Given the description of an element on the screen output the (x, y) to click on. 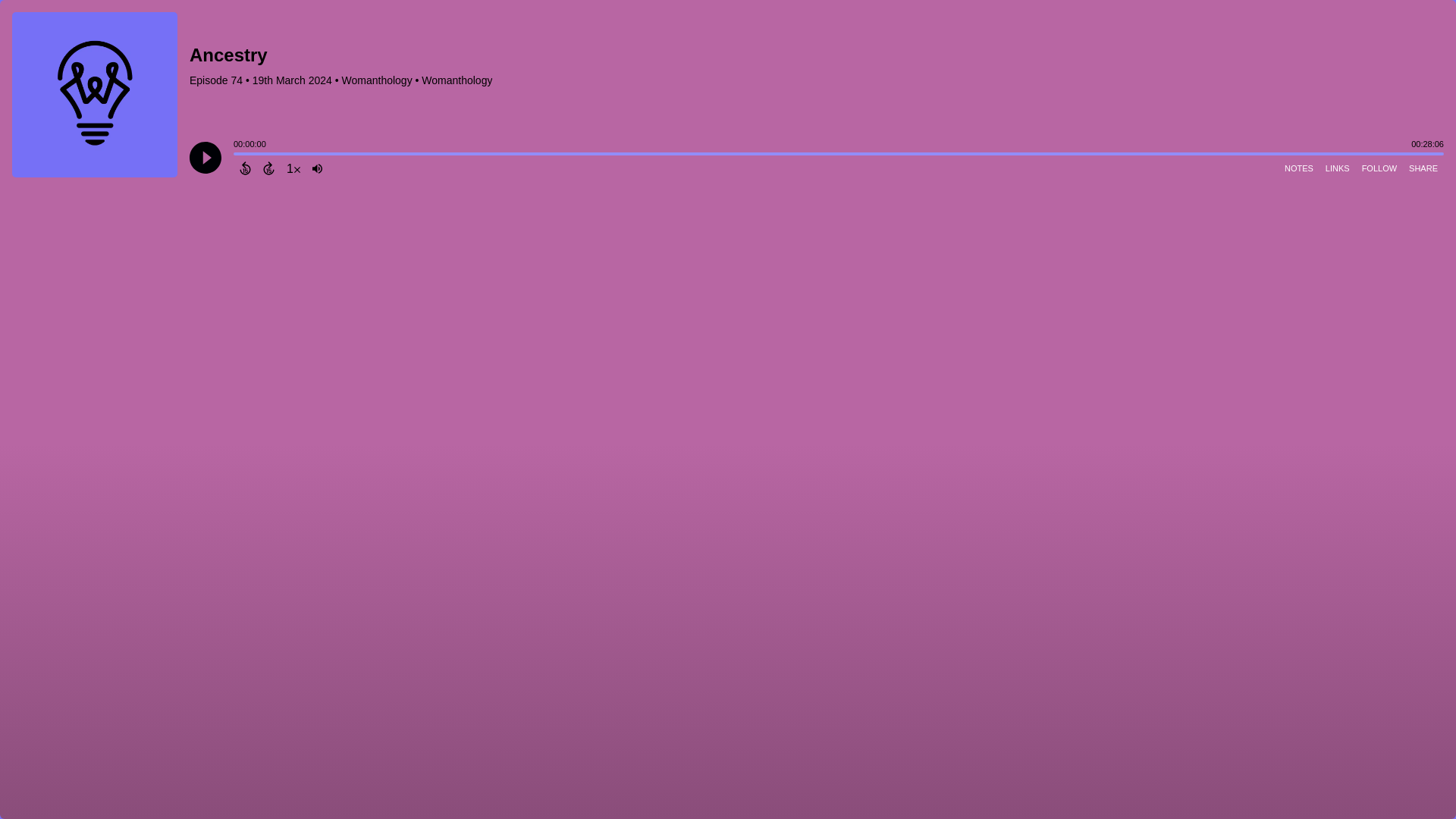
NOTES (1298, 167)
FOLLOW (1379, 167)
SHARE (1423, 167)
1 (293, 167)
LINKS (1337, 167)
